Given the description of an element on the screen output the (x, y) to click on. 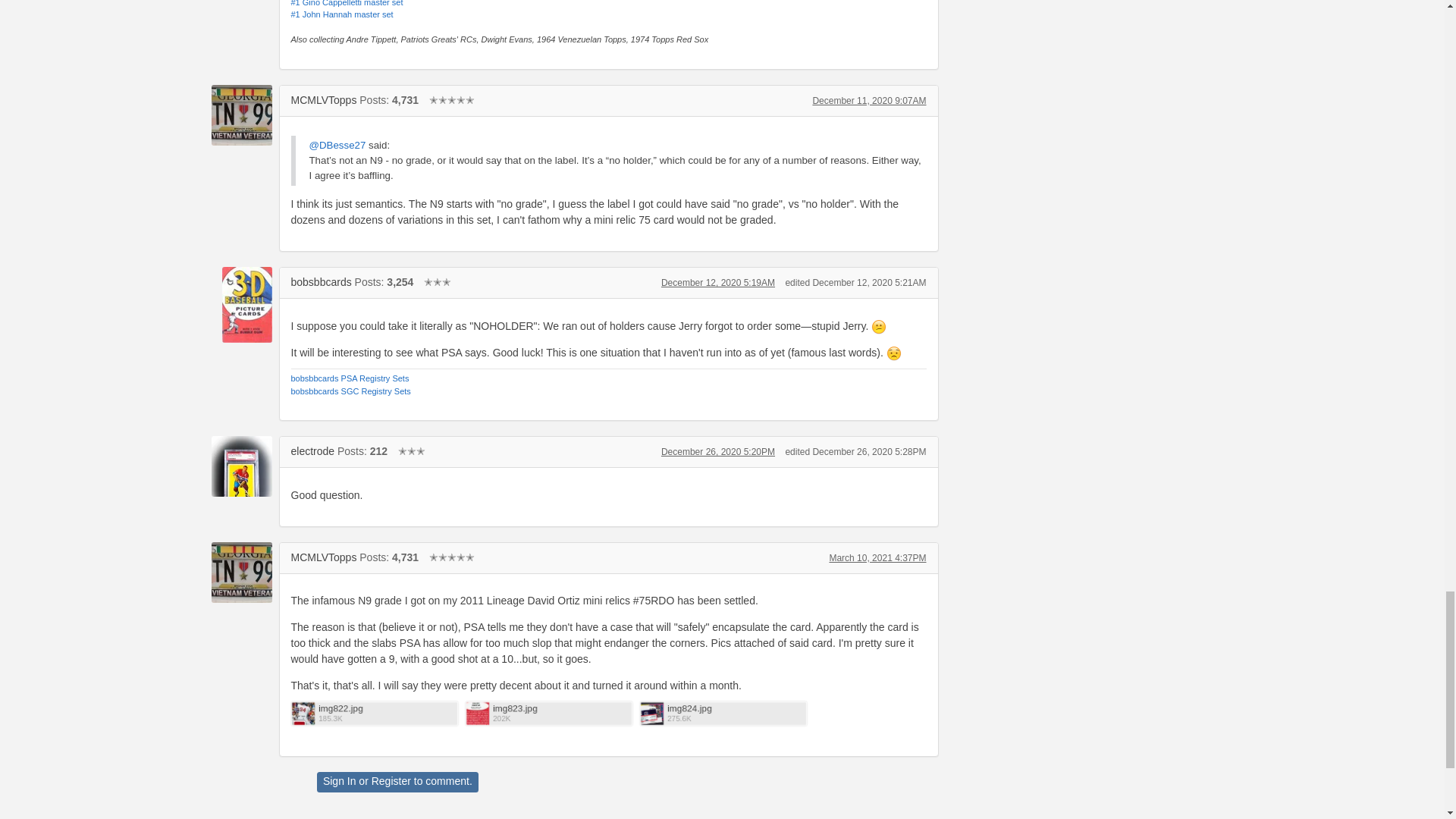
bobsbbcards (321, 282)
MCMLVTopps (240, 115)
December 26, 2020 5:20PM (717, 451)
MCMLVTopps (323, 557)
December 12, 2020 5:19AM (717, 282)
bobsbbcards PSA Registry Sets (350, 378)
Master Collector (451, 100)
December 11, 2020 9:07AM (869, 100)
bobsbbcards SGC Registry Sets (350, 390)
MCMLVTopps (323, 100)
